Given the description of an element on the screen output the (x, y) to click on. 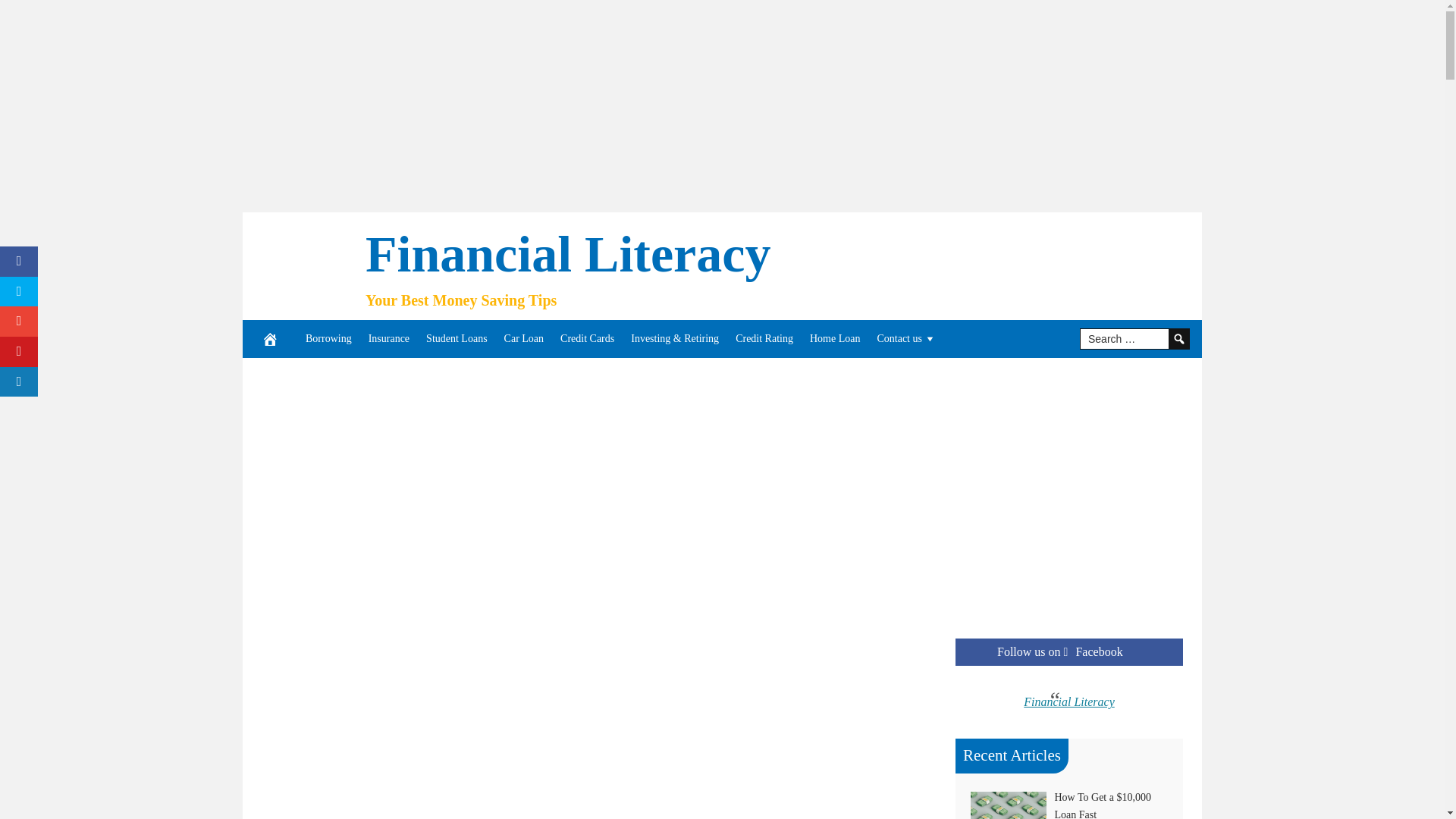
Borrowing (328, 338)
Credit Rating (764, 338)
Student Loans (456, 338)
Insurance (388, 338)
Contact us (905, 338)
Home Loan (834, 338)
Credit Cards (587, 338)
Car Loan (523, 338)
Financial Literacy (567, 253)
